Given the description of an element on the screen output the (x, y) to click on. 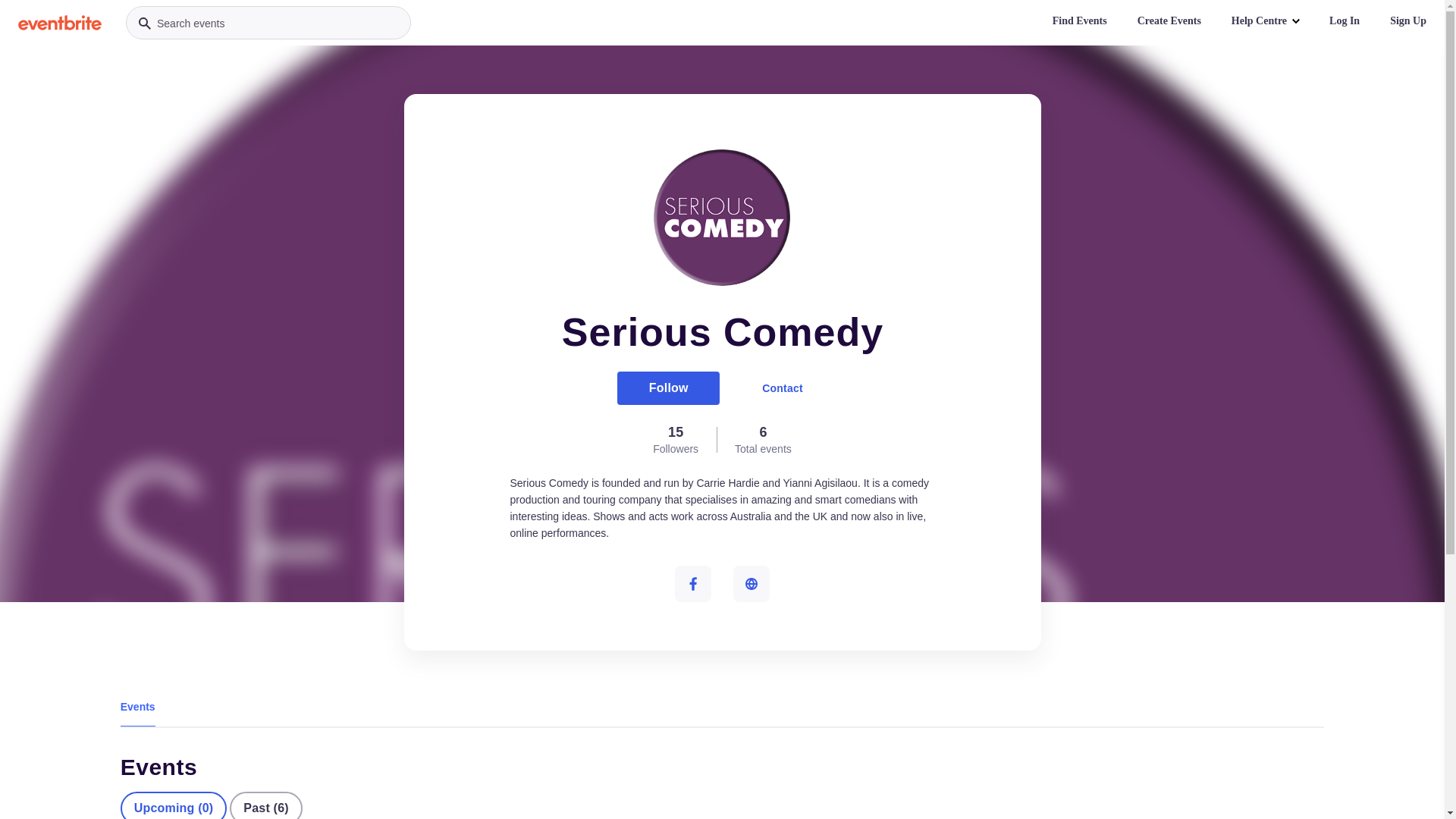
Search events Element type: text (268, 22)
Contact Element type: text (782, 387)
Events Element type: text (137, 706)
Follow Element type: text (668, 387)
Eventbrite Element type: hover (59, 22)
Create Events Element type: text (1169, 21)
Sign Up Element type: text (1407, 21)
Log In Element type: text (1344, 21)
Find Events Element type: text (1079, 21)
